Given the description of an element on the screen output the (x, y) to click on. 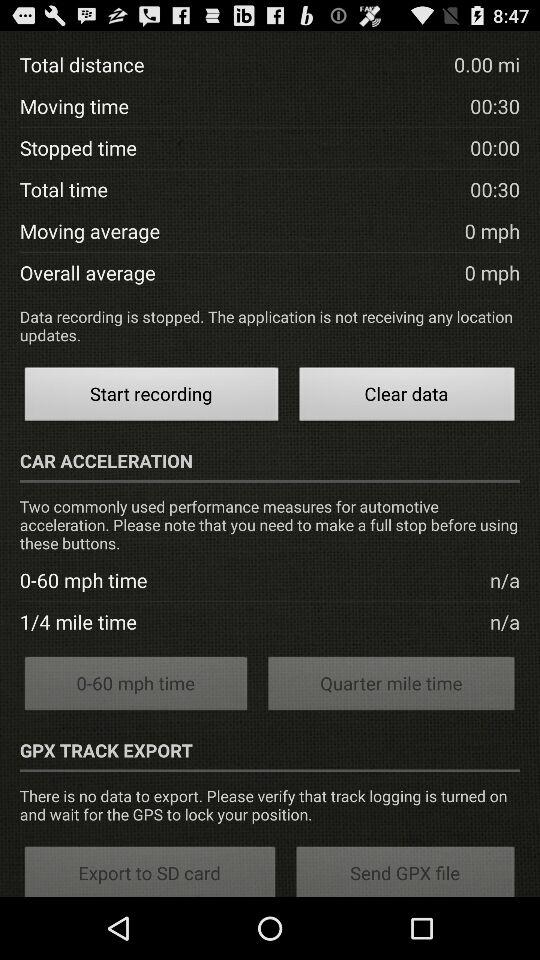
open clear data button (407, 396)
